Given the description of an element on the screen output the (x, y) to click on. 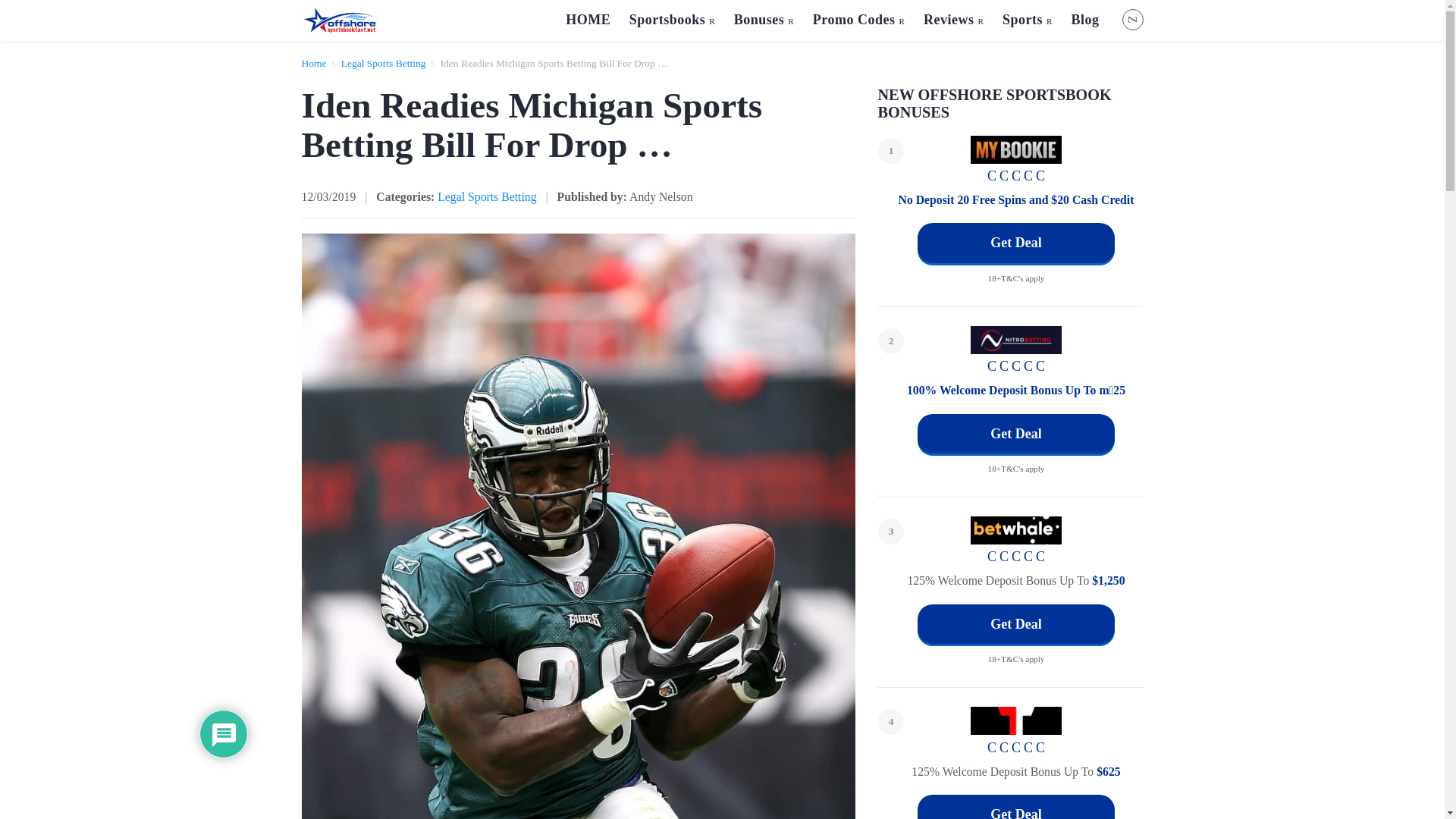
Home (313, 62)
Legal Sports Betting (383, 62)
